Given the description of an element on the screen output the (x, y) to click on. 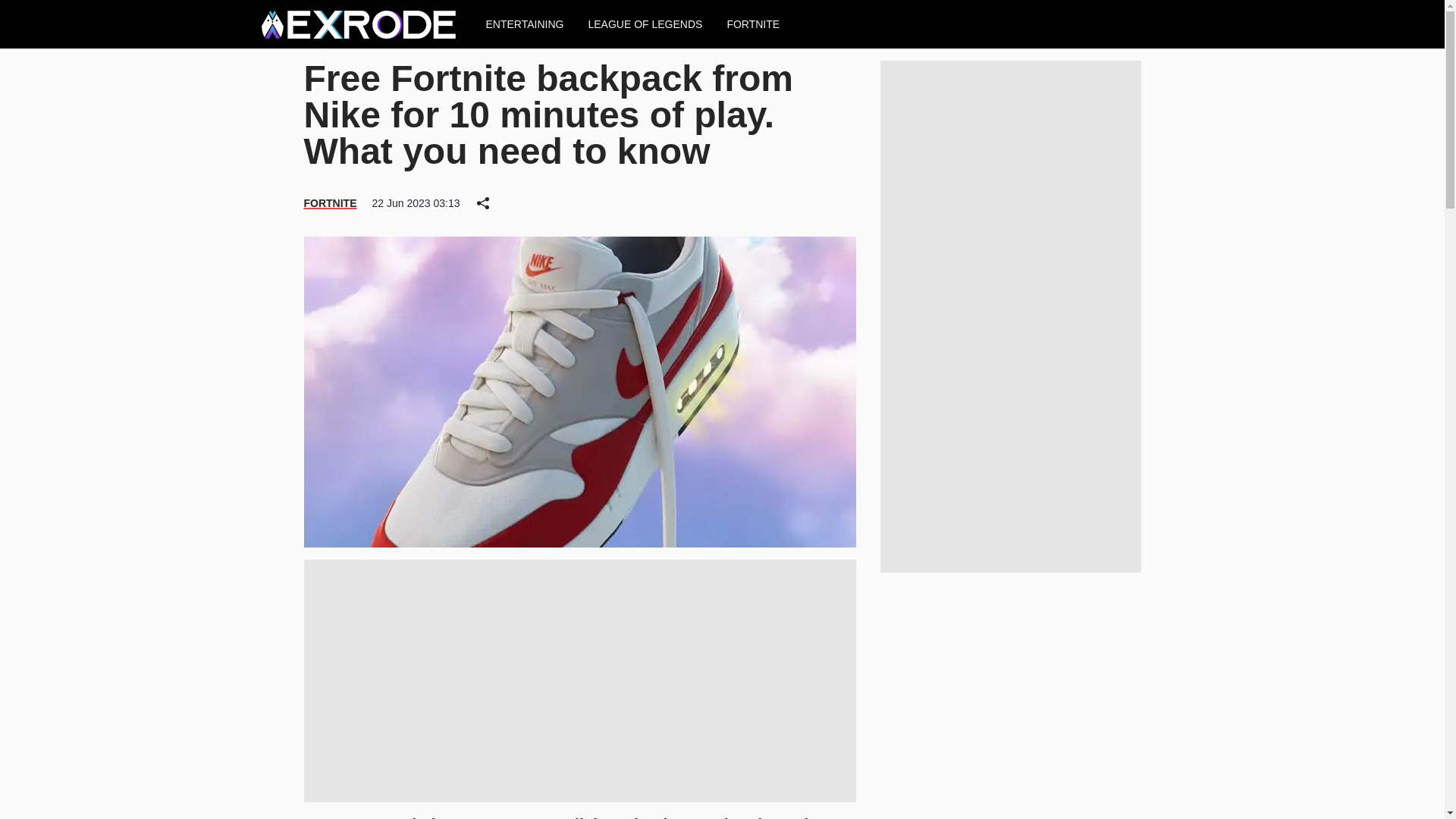
ENTERTAINING (524, 24)
LEAGUE OF LEGENDS (644, 24)
FORTNITE (753, 24)
FORTNITE (329, 203)
